Given the description of an element on the screen output the (x, y) to click on. 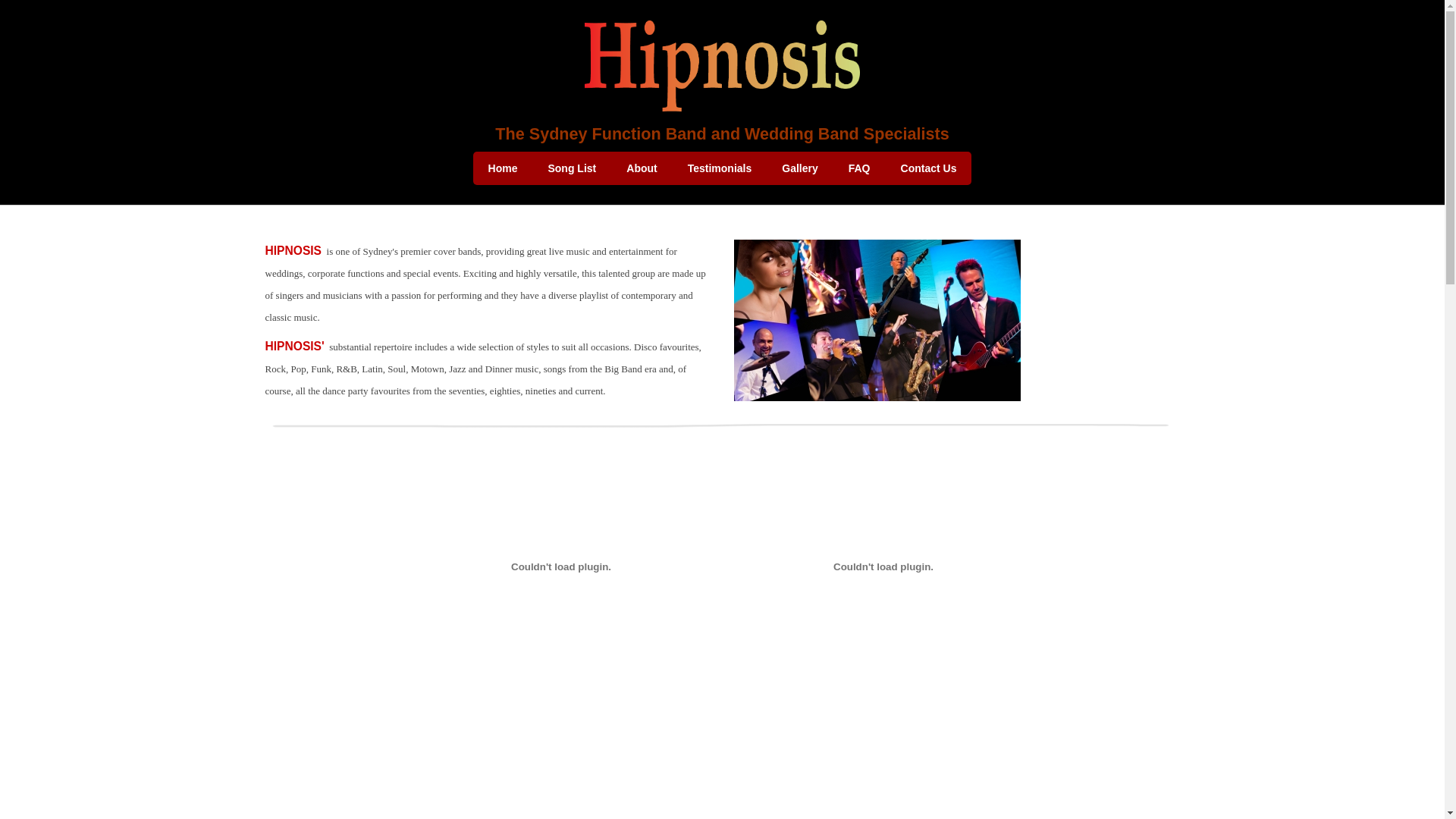
Gallery Element type: text (799, 168)
Home Element type: text (503, 168)
Contact Us Element type: text (928, 168)
About Element type: text (641, 168)
FAQ Element type: text (859, 168)
Testimonials Element type: text (719, 168)
Song List Element type: text (571, 168)
